Given the description of an element on the screen output the (x, y) to click on. 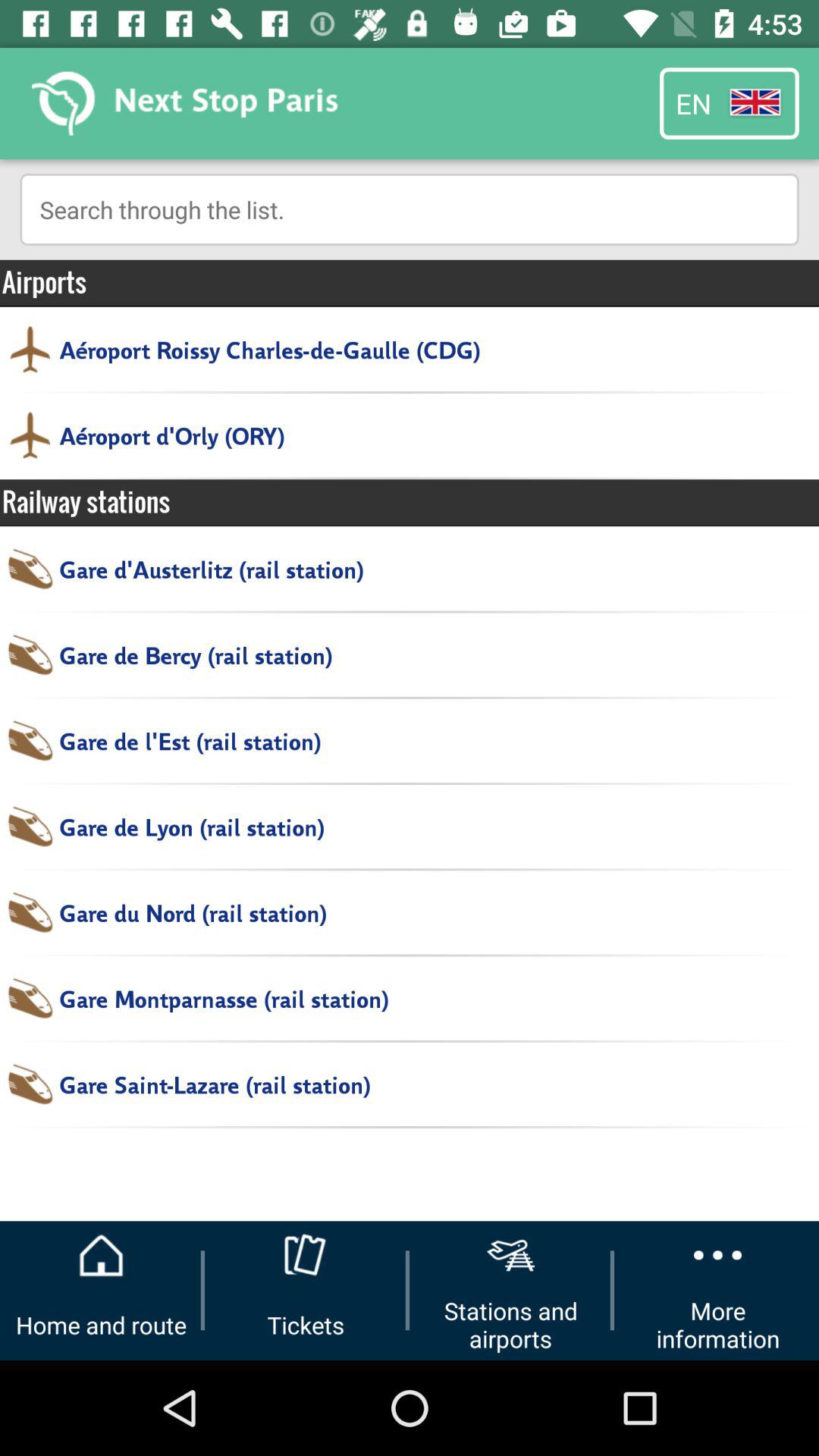
press the item above airports icon (409, 209)
